Given the description of an element on the screen output the (x, y) to click on. 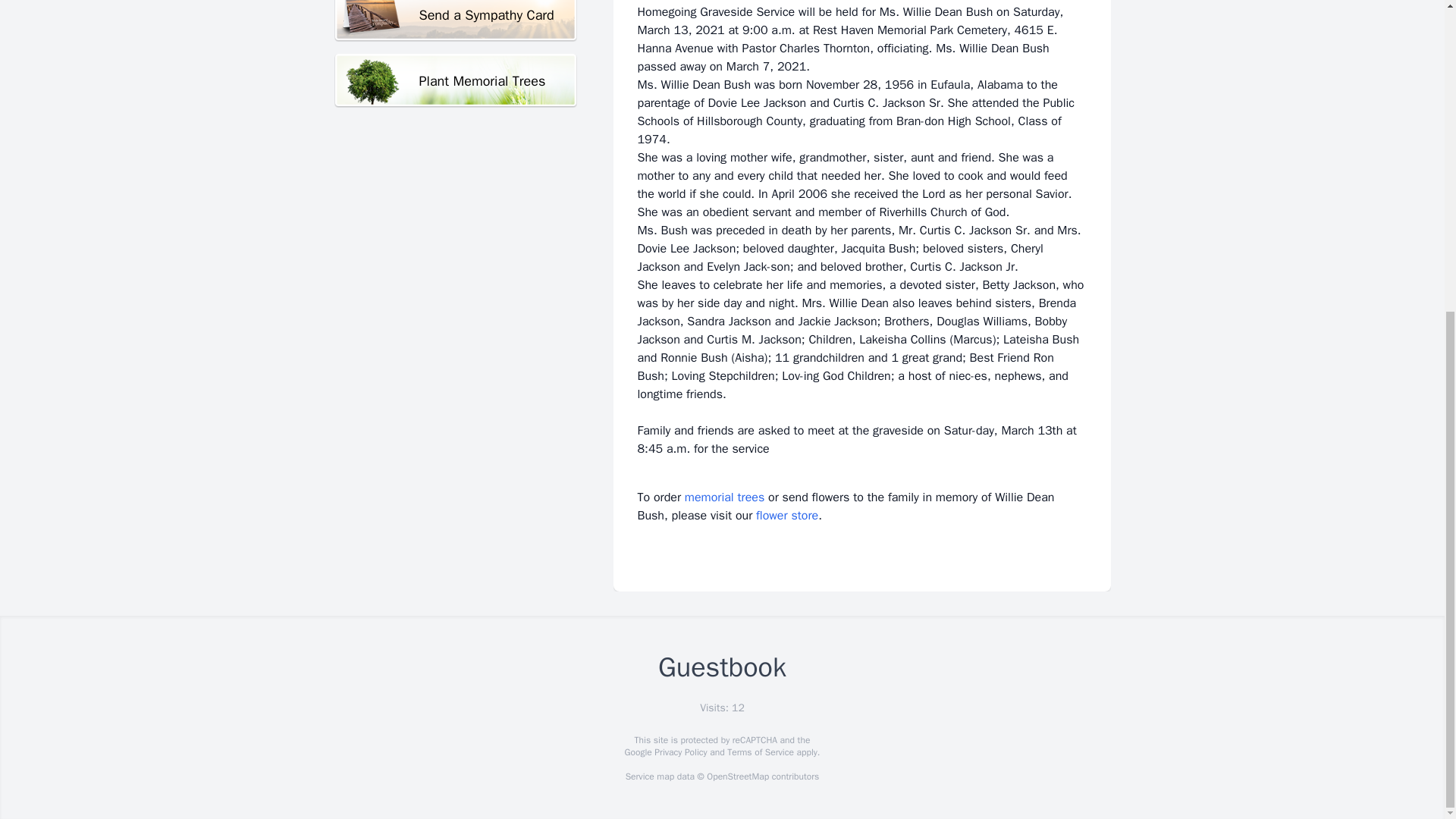
Plant Memorial Trees (454, 80)
Send a Sympathy Card (454, 21)
Privacy Policy (679, 752)
flower store (786, 515)
OpenStreetMap (737, 776)
memorial trees (724, 497)
Terms of Service (759, 752)
